Given the description of an element on the screen output the (x, y) to click on. 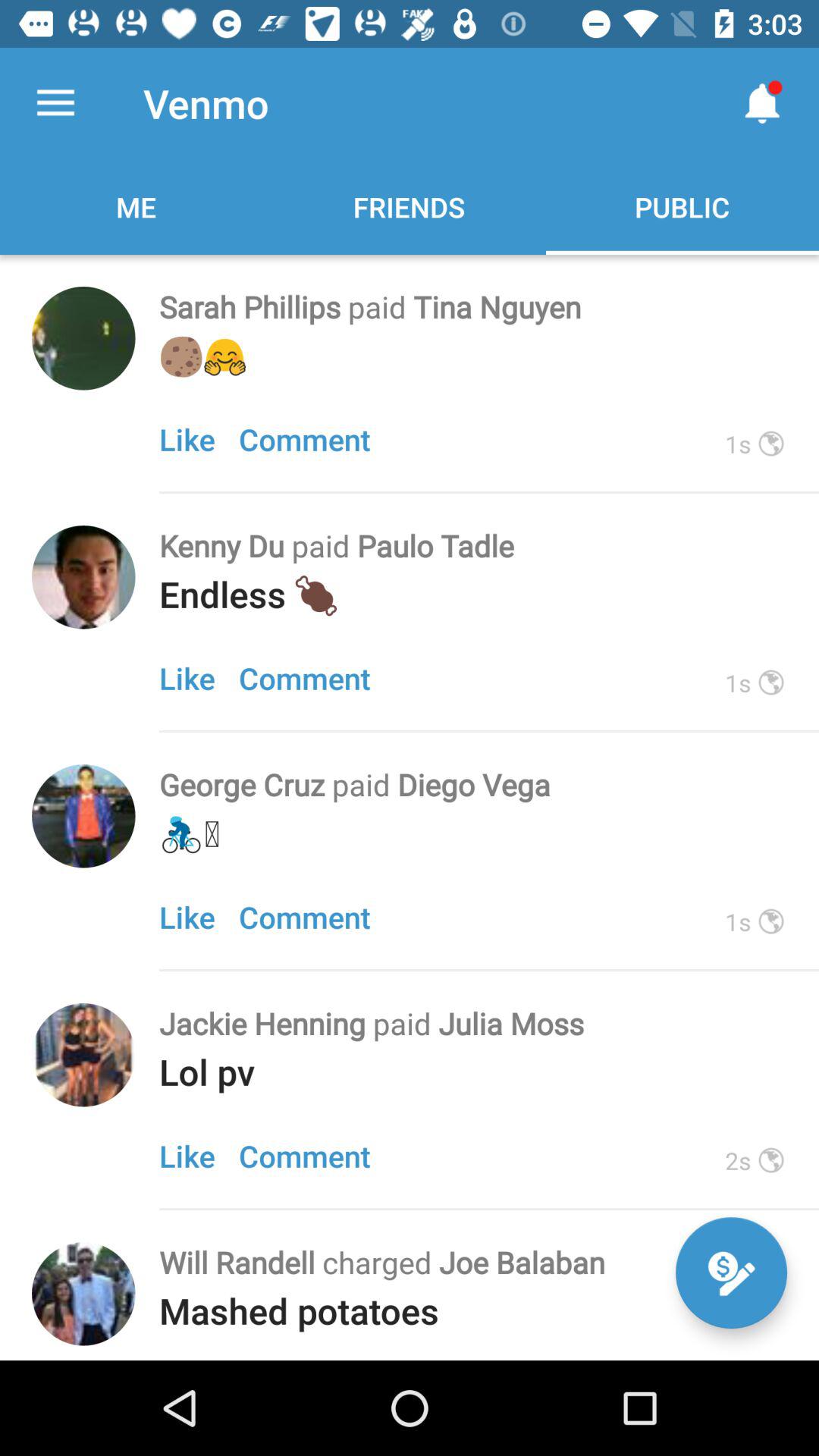
view profile (83, 1054)
